Given the description of an element on the screen output the (x, y) to click on. 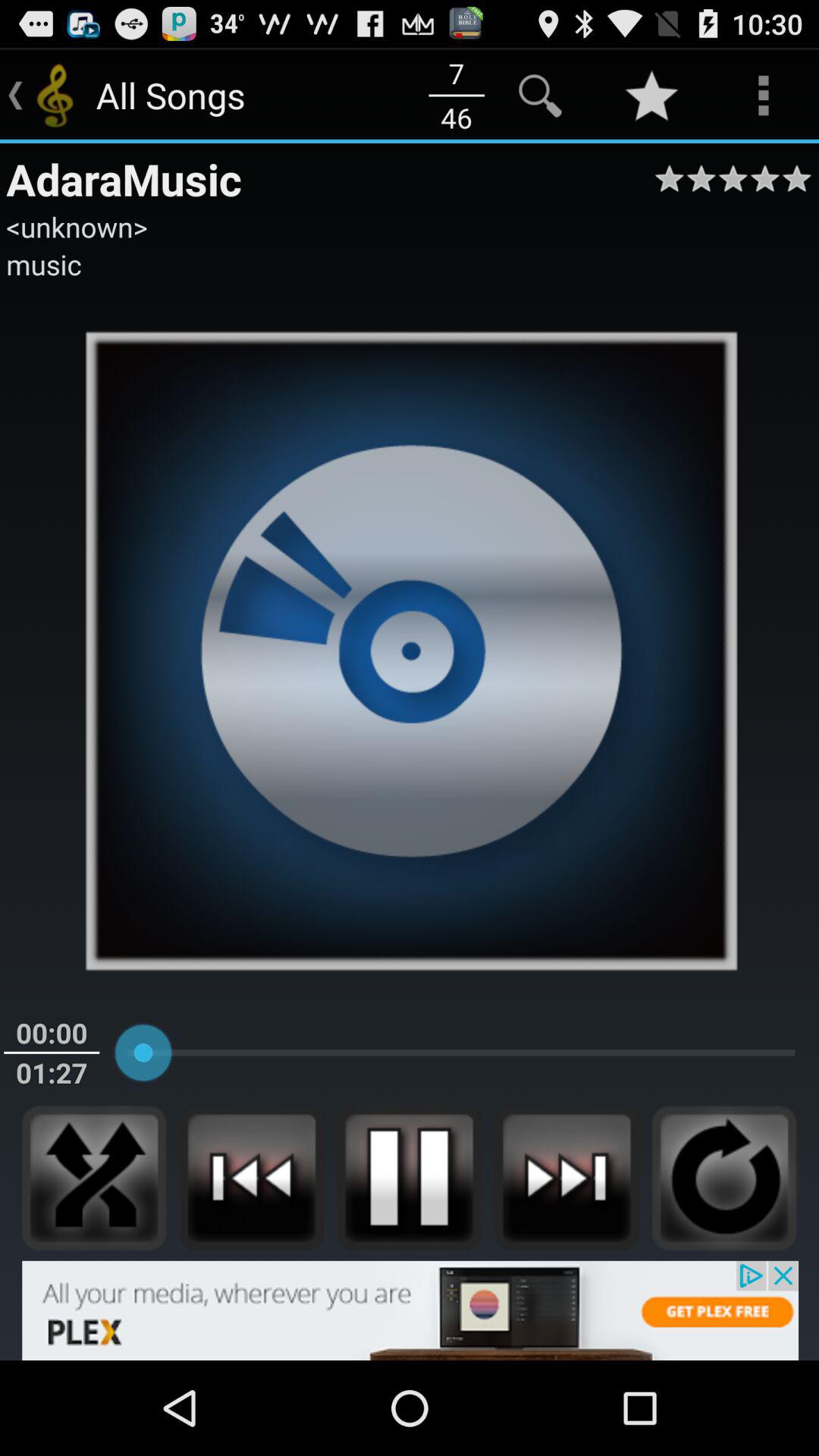
go to plex advertisement (409, 1310)
